Given the description of an element on the screen output the (x, y) to click on. 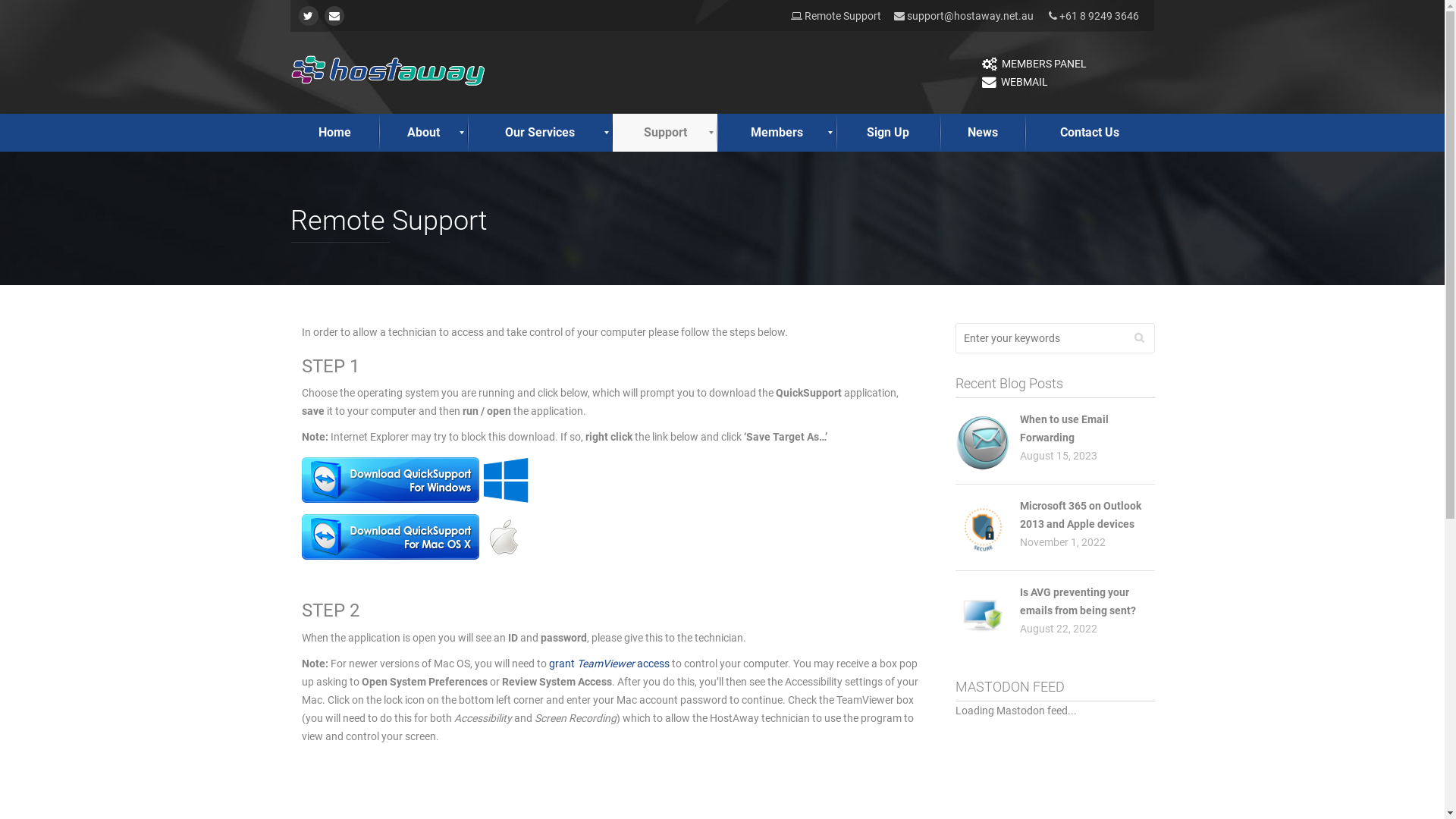
grant TeamViewer access Element type: text (609, 663)
News Element type: text (982, 132)
  WEBMAIL Element type: text (1014, 81)
Is AVG preventing your emails from being sent? Element type: text (1077, 601)
About Element type: text (423, 132)
Home Element type: text (333, 132)
  MEMBERS PANEL Element type: text (1033, 63)
When to use Email Forwarding Element type: text (1063, 428)
Email Element type: hover (334, 15)
Microsoft 365 on Outlook 2013 and Apple devices Element type: text (1080, 514)
Remote Support Element type: text (835, 15)
Contact Us Element type: text (1089, 132)
Our Services Element type: text (540, 132)
Twitter Element type: hover (308, 15)
Support Element type: text (664, 132)
Search for: Element type: hover (1054, 338)
Members Element type: text (776, 132)
support@hostaway.net.au Element type: text (969, 15)
Sign Up Element type: text (888, 132)
